Given the description of an element on the screen output the (x, y) to click on. 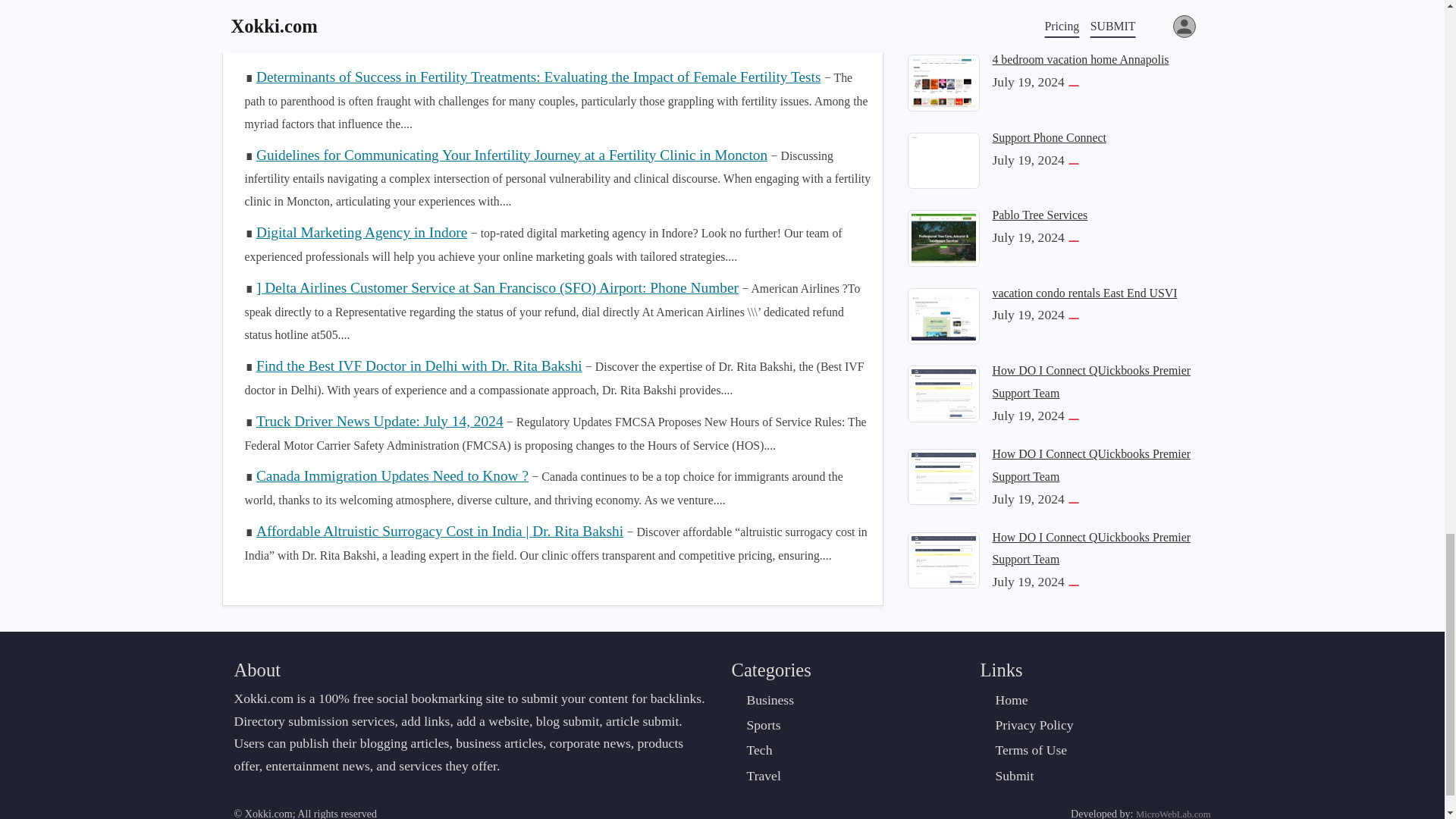
Canada Immigration Updates Need to Know ? (392, 475)
Find the Best IVF Doctor in Delhi with Dr. Rita Bakshi (419, 365)
Dr. Sandra Sarah Sanil (323, 21)
Truck Driver News Update: July 14, 2024 (379, 421)
Digital Marketing Agency in Indore (361, 232)
